Given the description of an element on the screen output the (x, y) to click on. 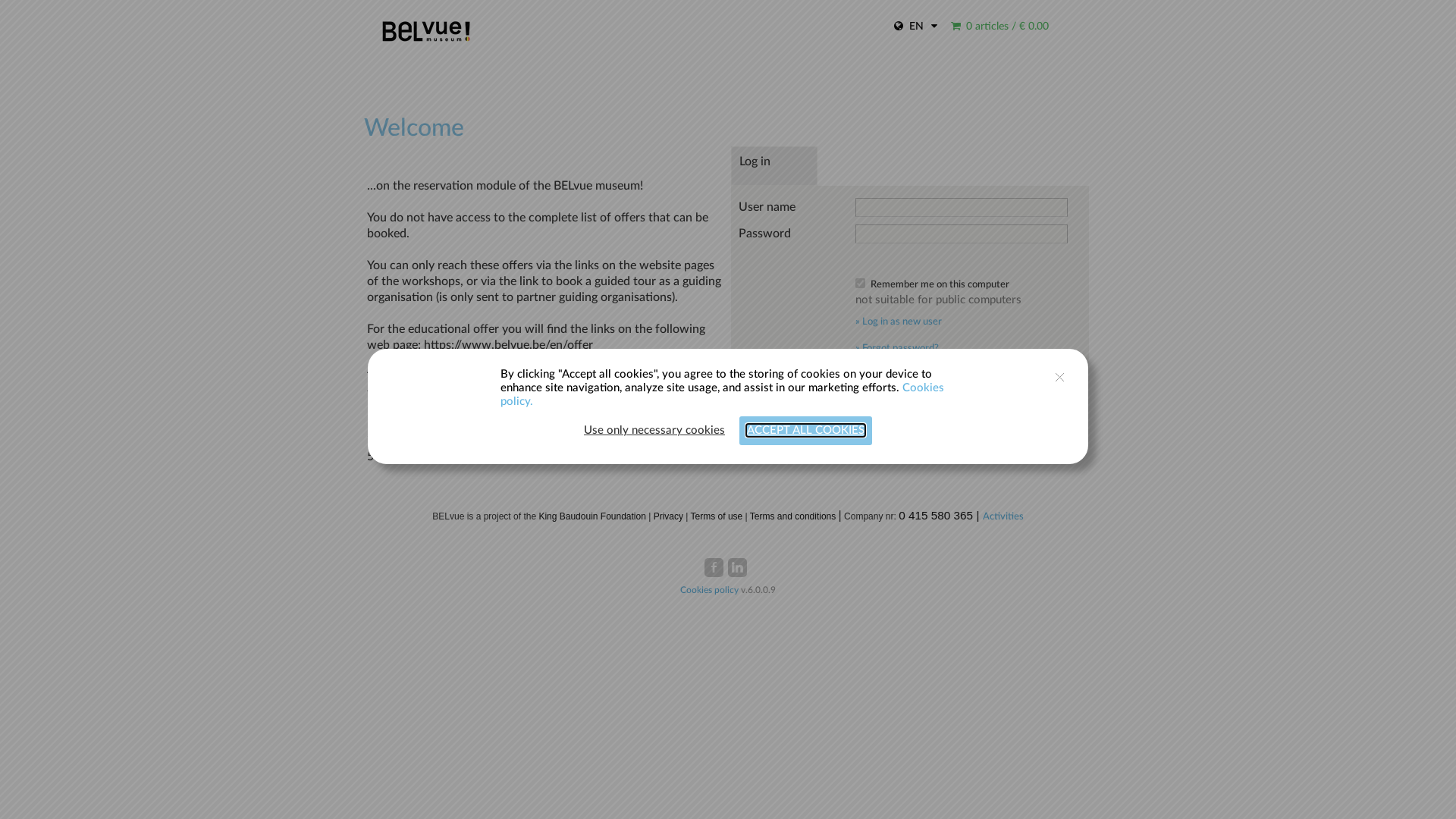
ACCEPT ALL COOKIES Element type: text (805, 430)
Cookies policy Element type: text (710, 589)
Log in Element type: text (774, 165)
Follow us on LinkedIn Element type: hover (737, 567)
Terms and conditions Element type: text (792, 516)
Activities Element type: text (1002, 516)
Privacy Element type: text (668, 516)
King Baudouin Foundation Element type: text (591, 516)
Log in Element type: text (881, 260)
EN Element type: text (916, 27)
Follow us on Facebook Element type: hover (713, 567)
Use only necessary cookies Element type: text (653, 430)
Cookies policy. Element type: text (722, 394)
Terms of use Element type: text (716, 516)
